Given the description of an element on the screen output the (x, y) to click on. 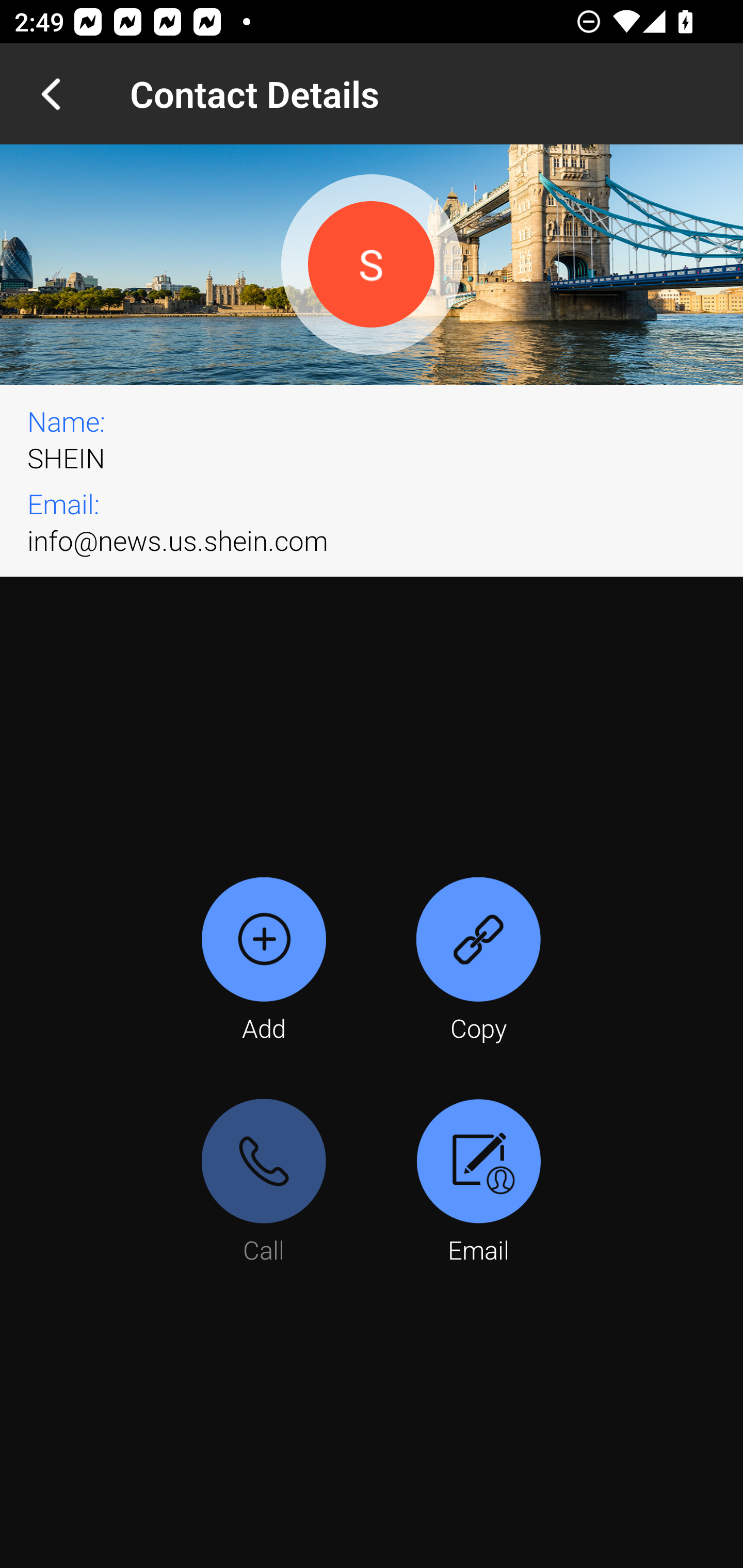
Navigate up (50, 93)
Add (264, 961)
Copy (478, 961)
Call (264, 1182)
Email (478, 1182)
